Given the description of an element on the screen output the (x, y) to click on. 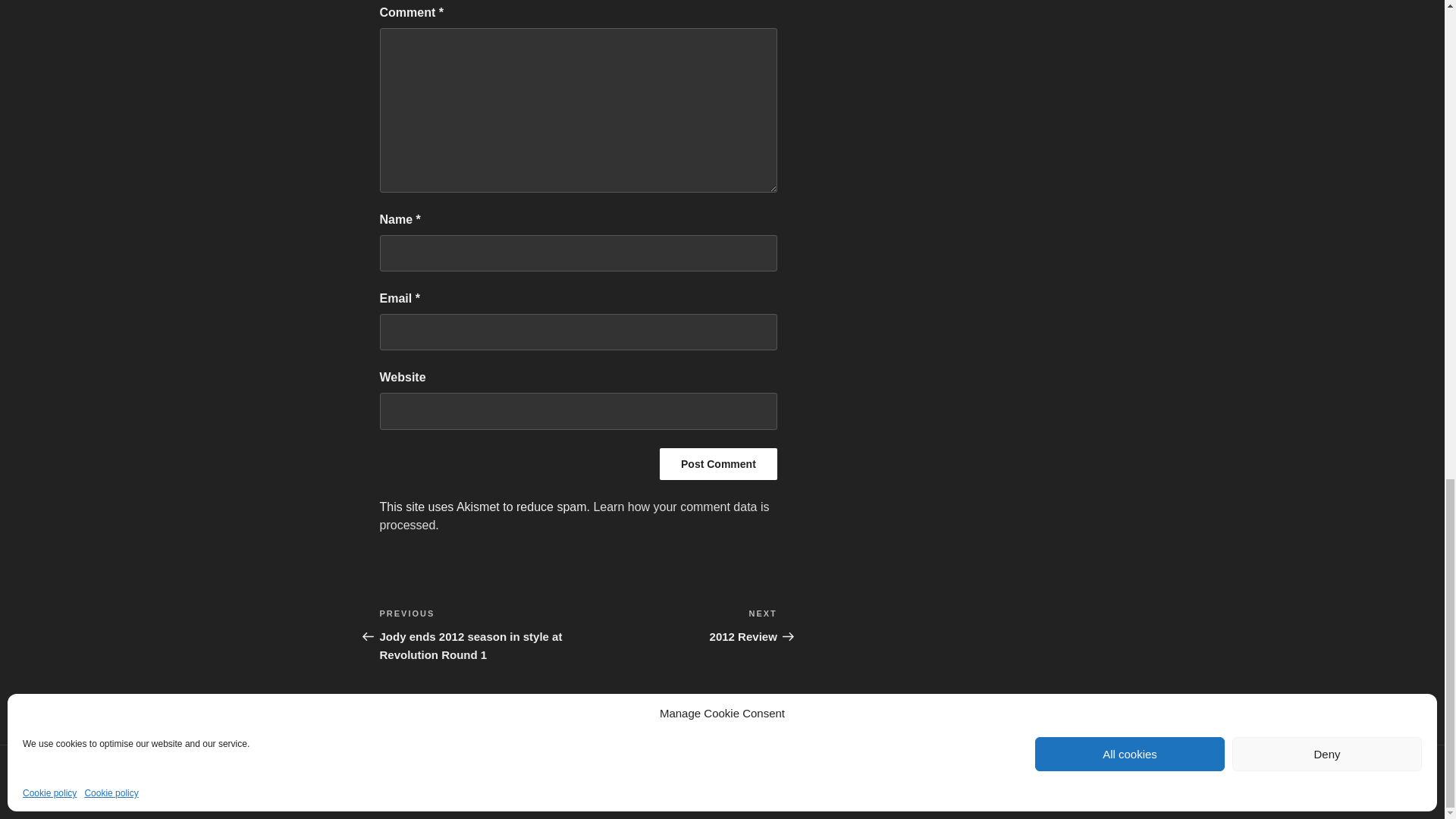
Post Comment (718, 463)
Learn how your comment data is processed (573, 515)
Post Comment (718, 463)
